Given the description of an element on the screen output the (x, y) to click on. 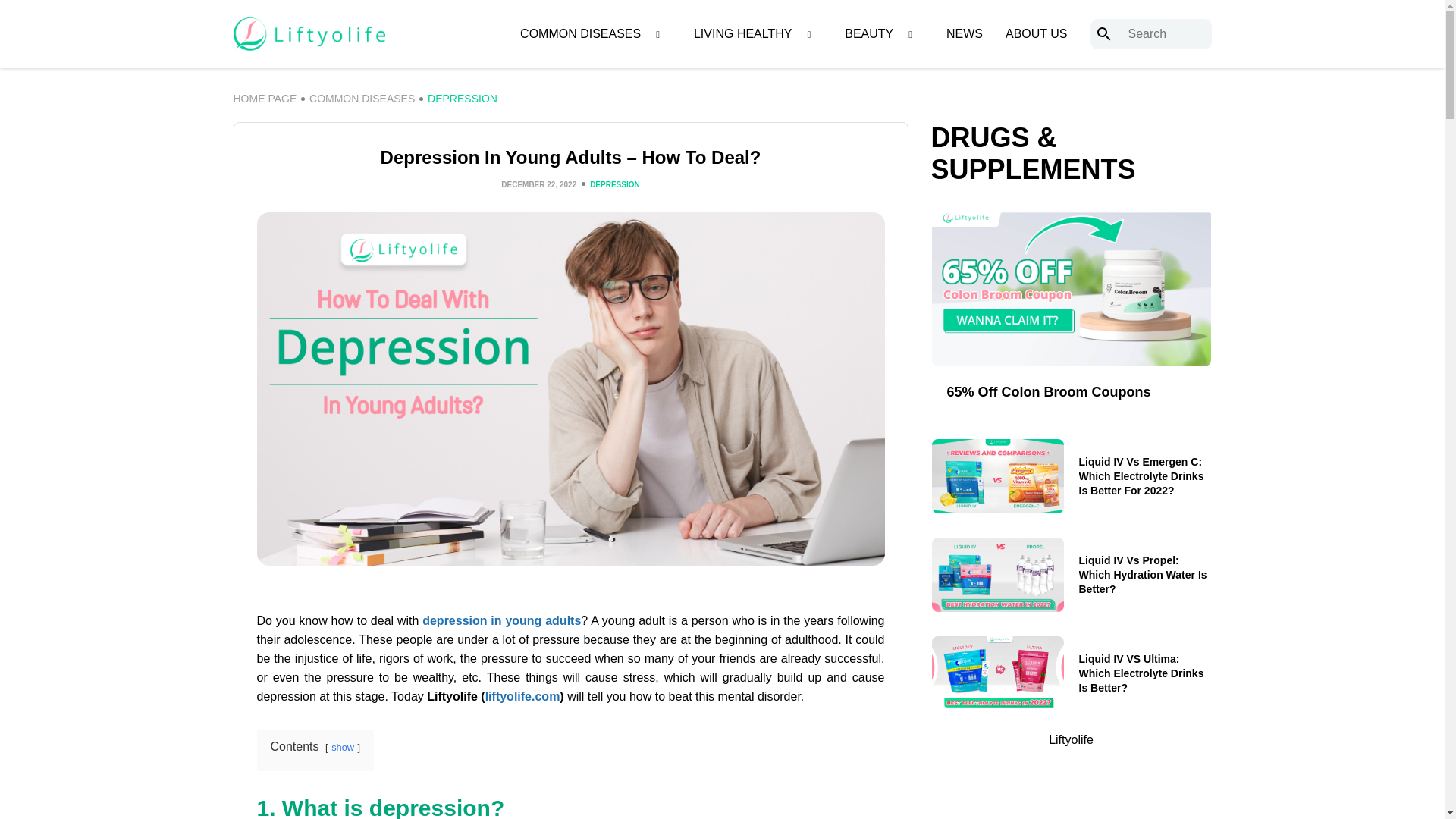
ABOUT US (1036, 33)
Liftyolife (522, 696)
HOME PAGE (264, 98)
depression in young adults (501, 620)
liftyolife.com (522, 696)
COMMON DISEASES (361, 98)
BEAUTY (868, 33)
depression in young adults (501, 620)
COMMON DISEASES (579, 33)
Advertisement (1071, 794)
